Given the description of an element on the screen output the (x, y) to click on. 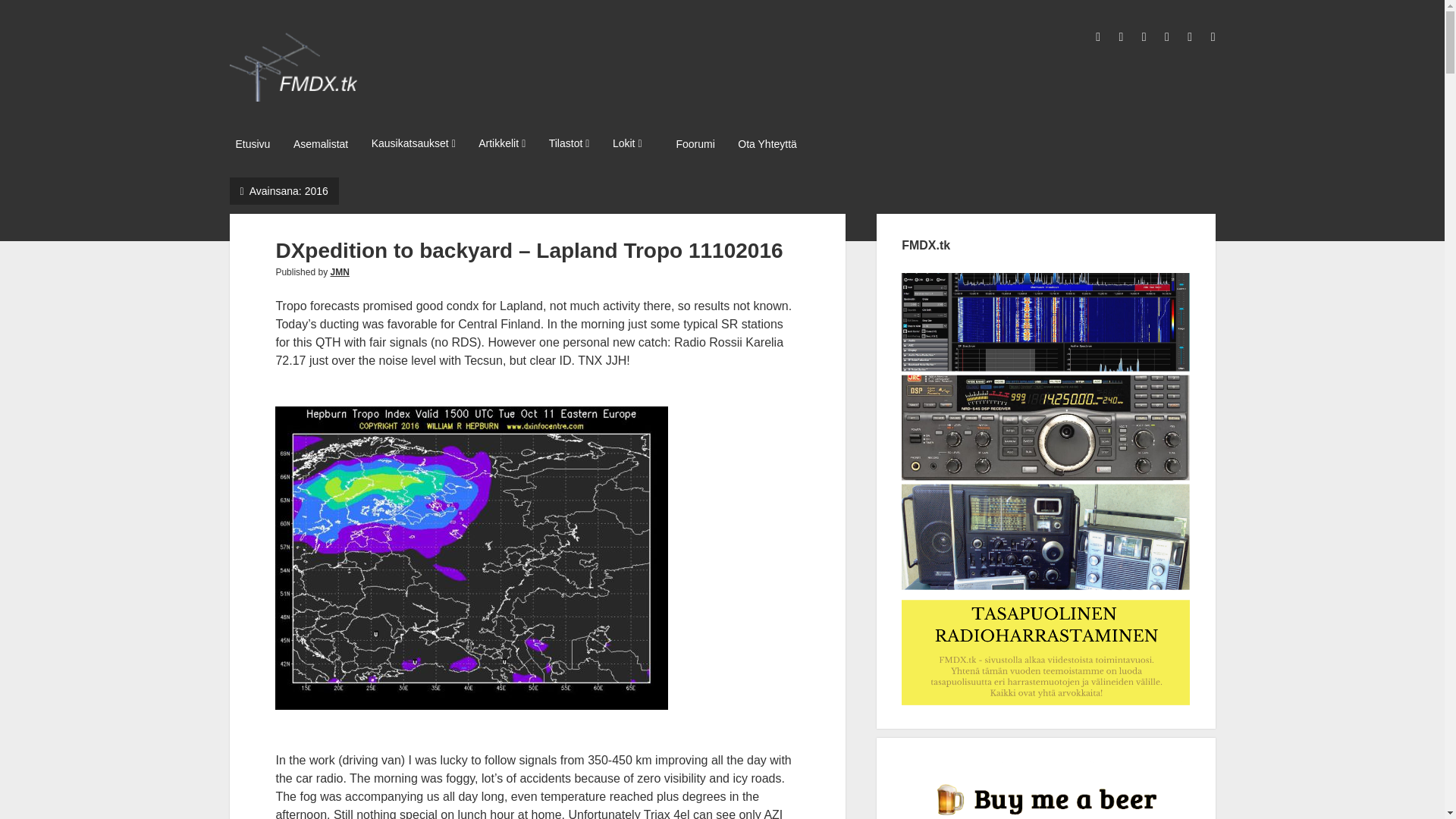
Artikkelit (501, 144)
Asemalistat (319, 144)
Tilastot (569, 144)
Lokit (627, 144)
Etusivu (252, 144)
Kausikatsaukset (413, 144)
